Given the description of an element on the screen output the (x, y) to click on. 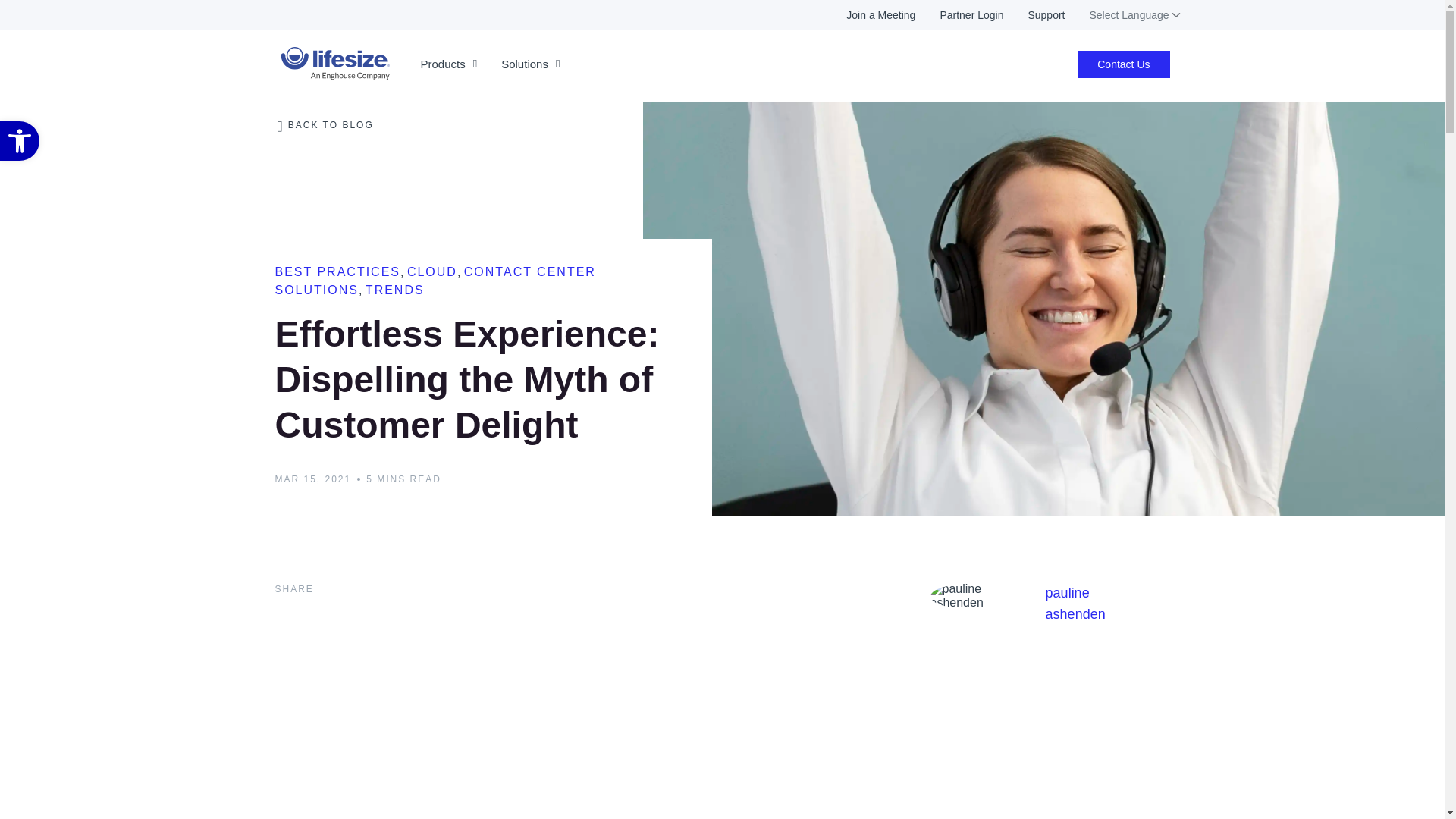
Solutions (19, 140)
Accessibility Tools (530, 63)
Support (19, 140)
Partner Login (1033, 14)
Products (959, 14)
Products (448, 63)
Join a Meeting (448, 63)
Solutions (868, 14)
Accessibility Tools (530, 63)
In the Contact Center, the Best Service is Quick Service (19, 140)
